Given the description of an element on the screen output the (x, y) to click on. 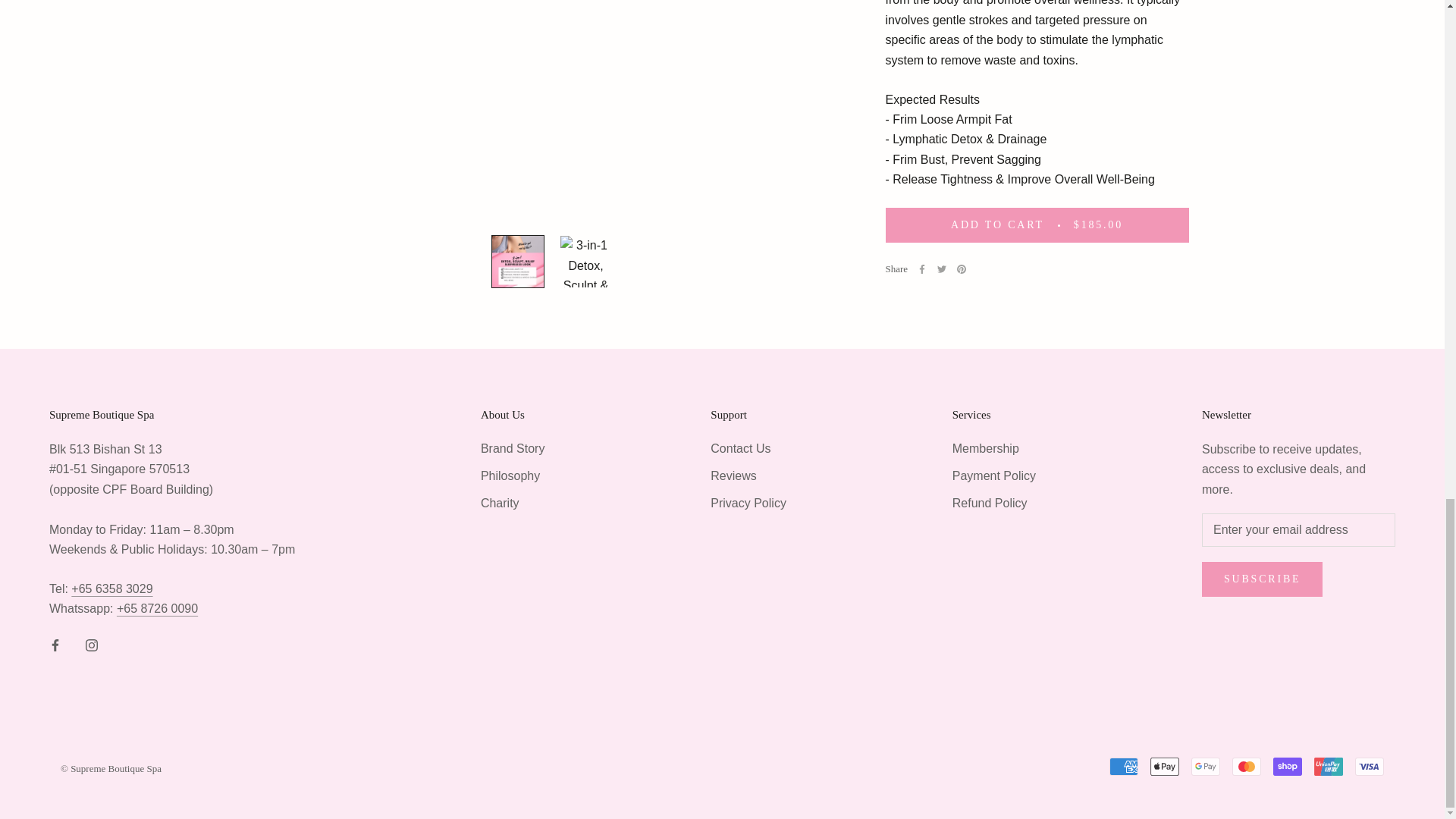
Mastercard (1245, 766)
Apple Pay (1164, 766)
Visa (1369, 766)
Union Pay (1328, 766)
American Express (1123, 766)
Google Pay (1205, 766)
Shop Pay (1286, 766)
